Given the description of an element on the screen output the (x, y) to click on. 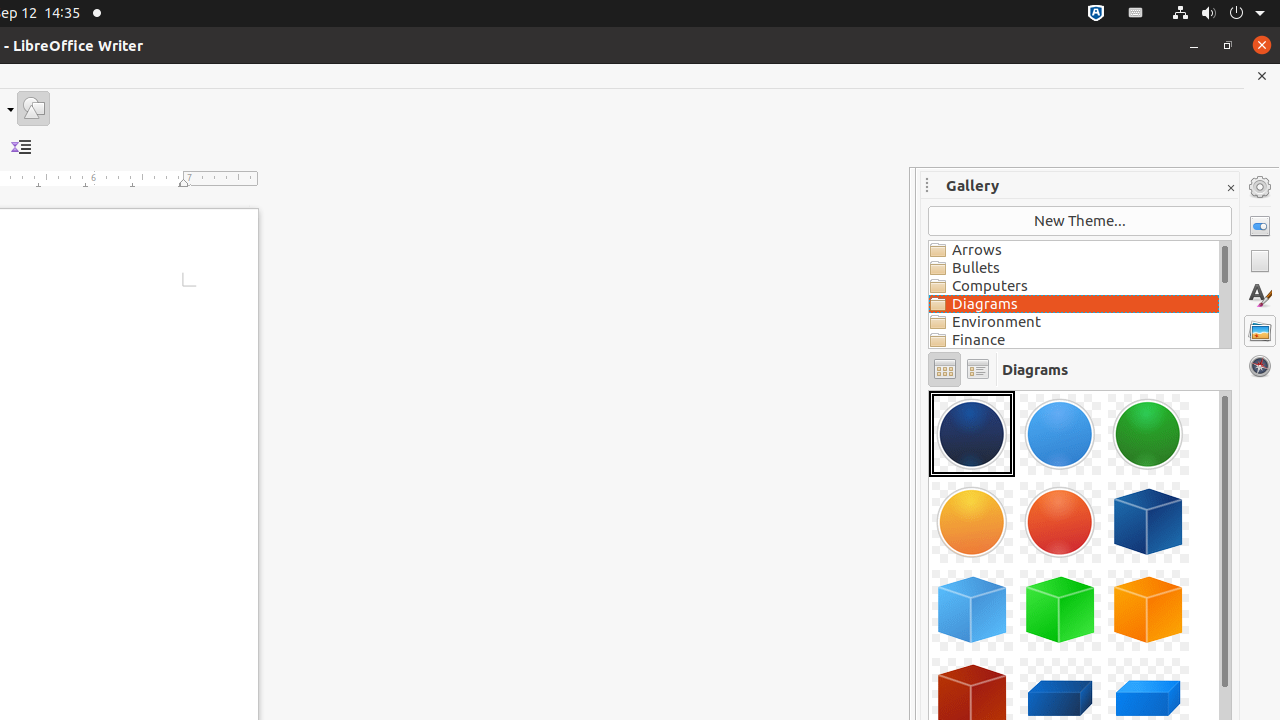
Close Sidebar Deck Element type: push-button (1230, 188)
Computers Element type: list-item (1074, 286)
Detailed View Element type: toggle-button (977, 369)
Component-Circle03-Transparent-Green Element type: list-item (1148, 433)
Component-Cube03-Green Element type: list-item (1060, 610)
